Given the description of an element on the screen output the (x, y) to click on. 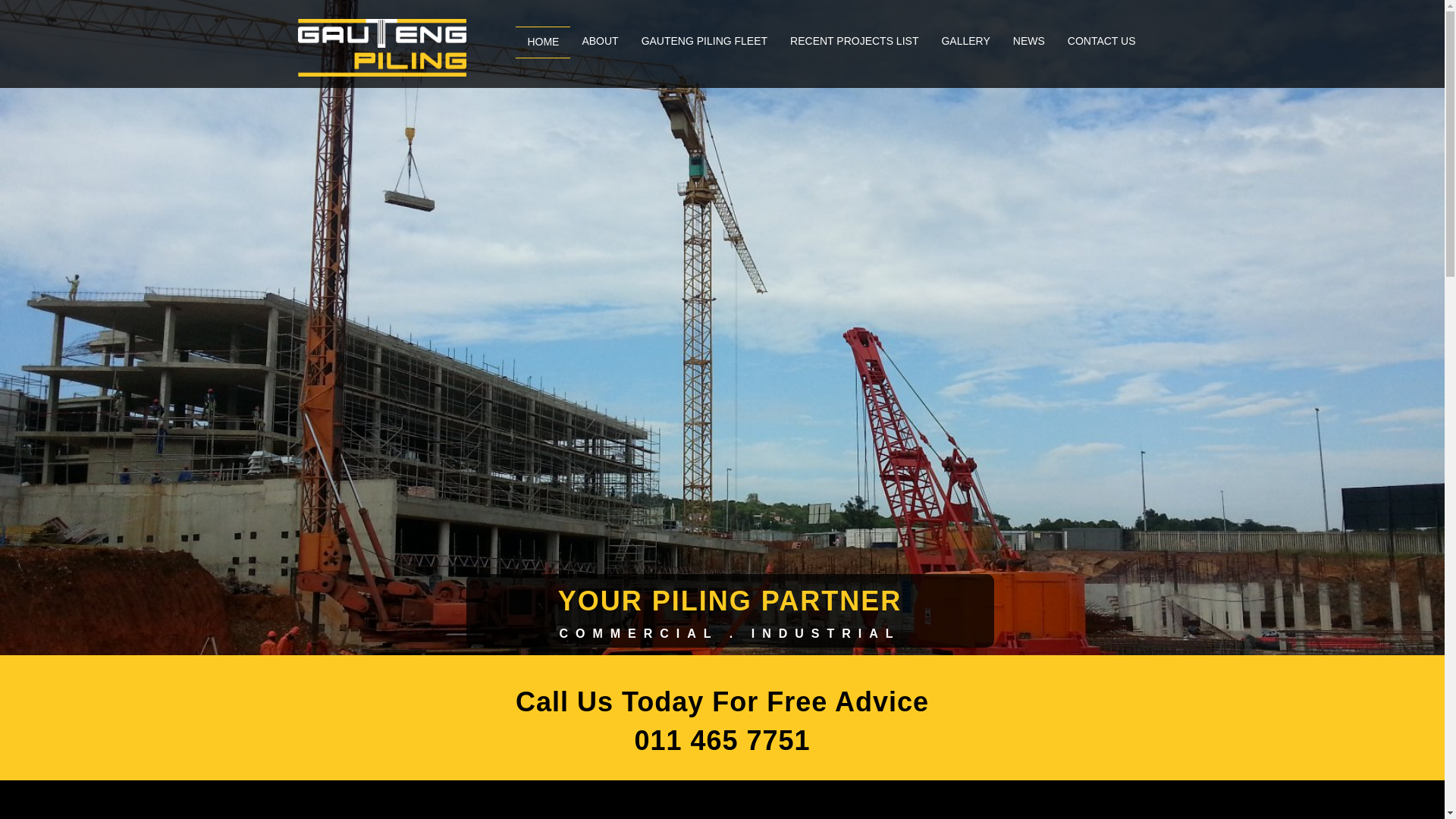
HOME (542, 42)
CONTACT US (1102, 41)
RECENT PROJECTS LIST (854, 41)
ABOUT (599, 41)
GALLERY (965, 41)
GAUTENG PILING FLEET (704, 41)
011 465 7751 (721, 739)
NEWS (1029, 41)
